Given the description of an element on the screen output the (x, y) to click on. 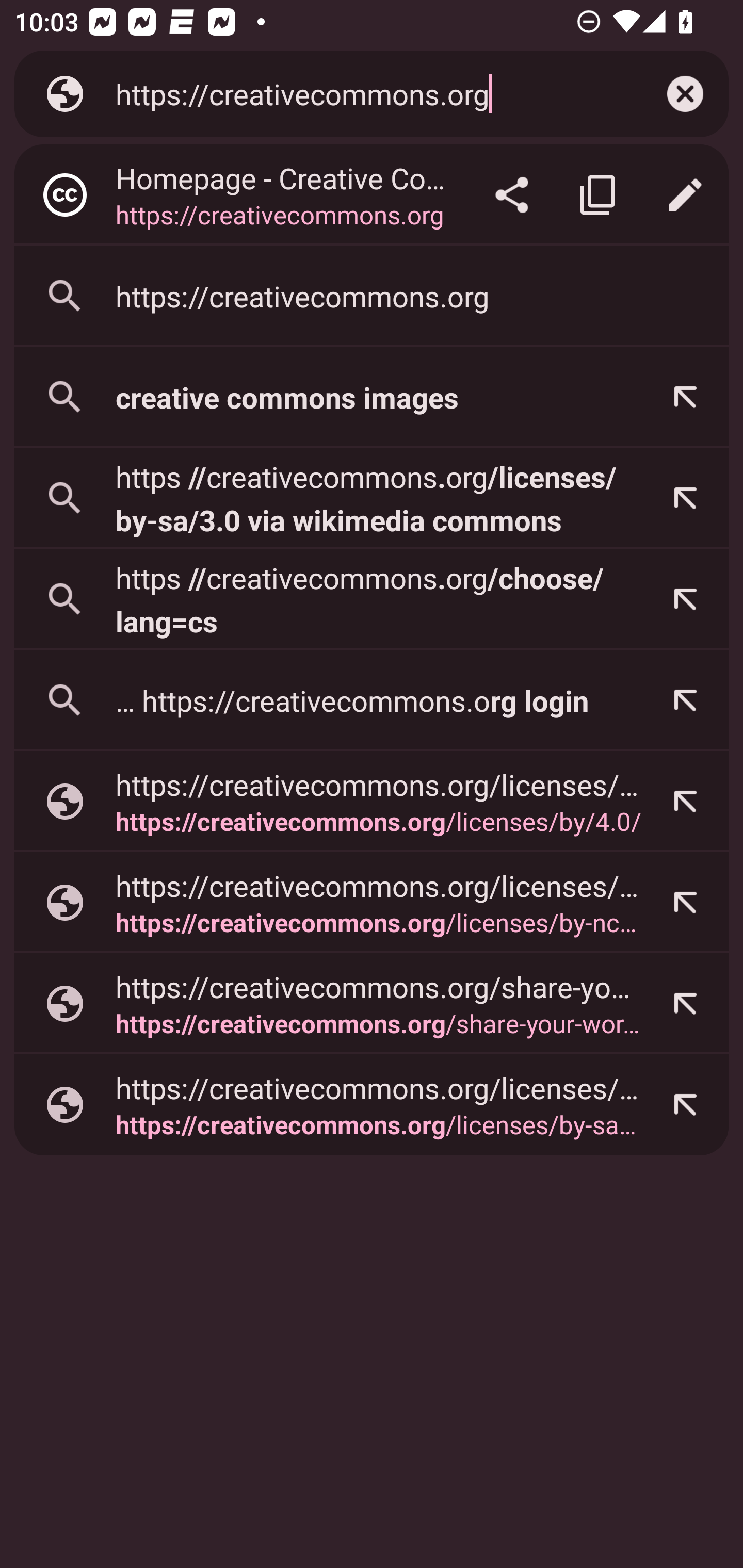
Clear input (684, 93)
https://creativecommons.org (367, 92)
Share… (511, 195)
Copy link (598, 195)
Edit (684, 195)
https://creativecommons.org (371, 296)
Refine: creative commons images (684, 397)
Refine: https://creativecommons.org login (684, 700)
